Given the description of an element on the screen output the (x, y) to click on. 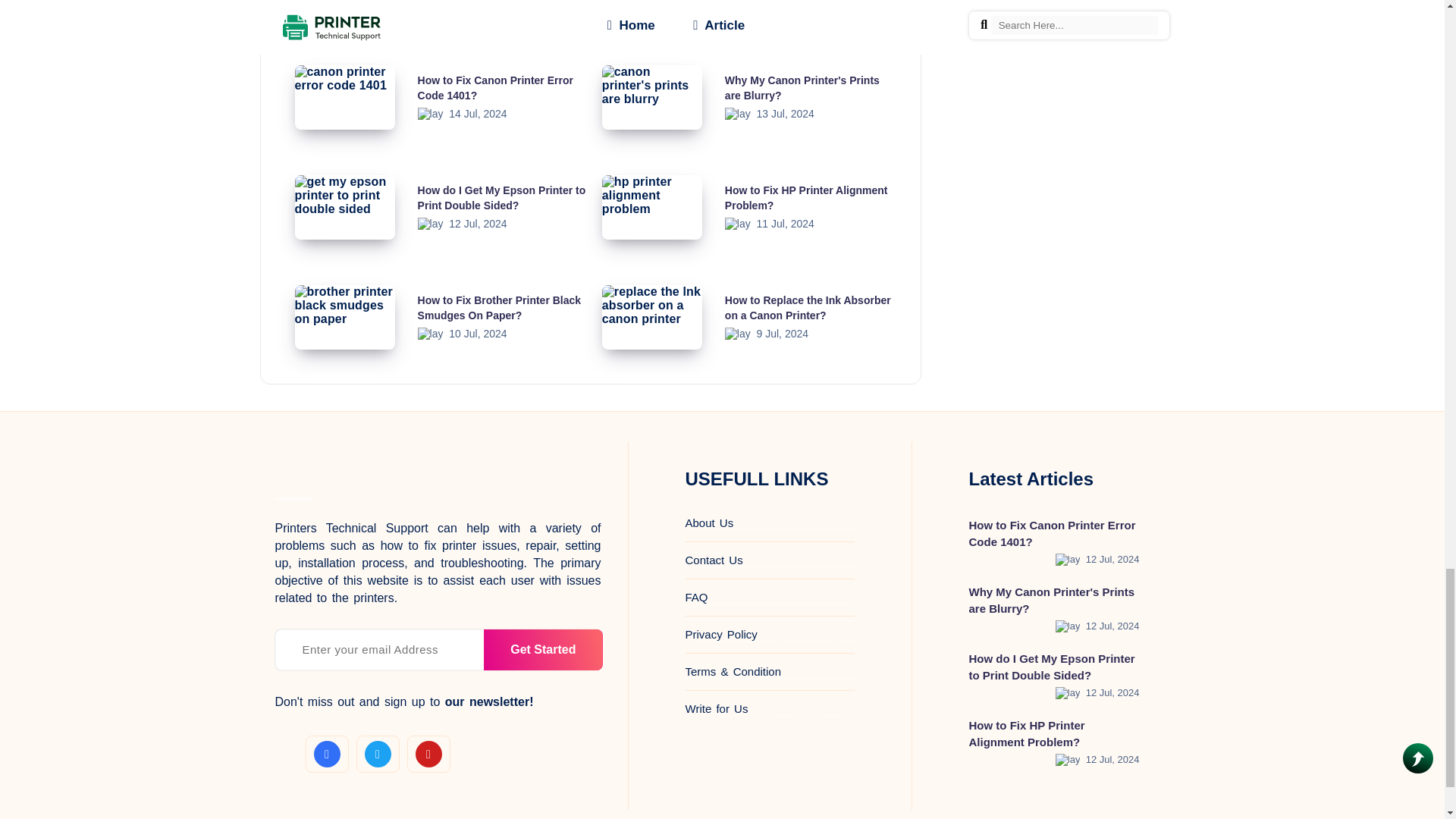
How do I Get My Epson Printer to Print Double Sided? (501, 197)
How to Fix Canon Printer Error Code 1401? (495, 87)
How to Replace the Ink Absorber on a Canon Printer? (808, 307)
Why My Canon Printer's Prints are Blurry? (802, 87)
How to Fix HP Printer Alignment Problem? (806, 197)
How to Fix Brother Printer Black Smudges On Paper? (498, 307)
Subscribe Router Forum (542, 649)
